Given the description of an element on the screen output the (x, y) to click on. 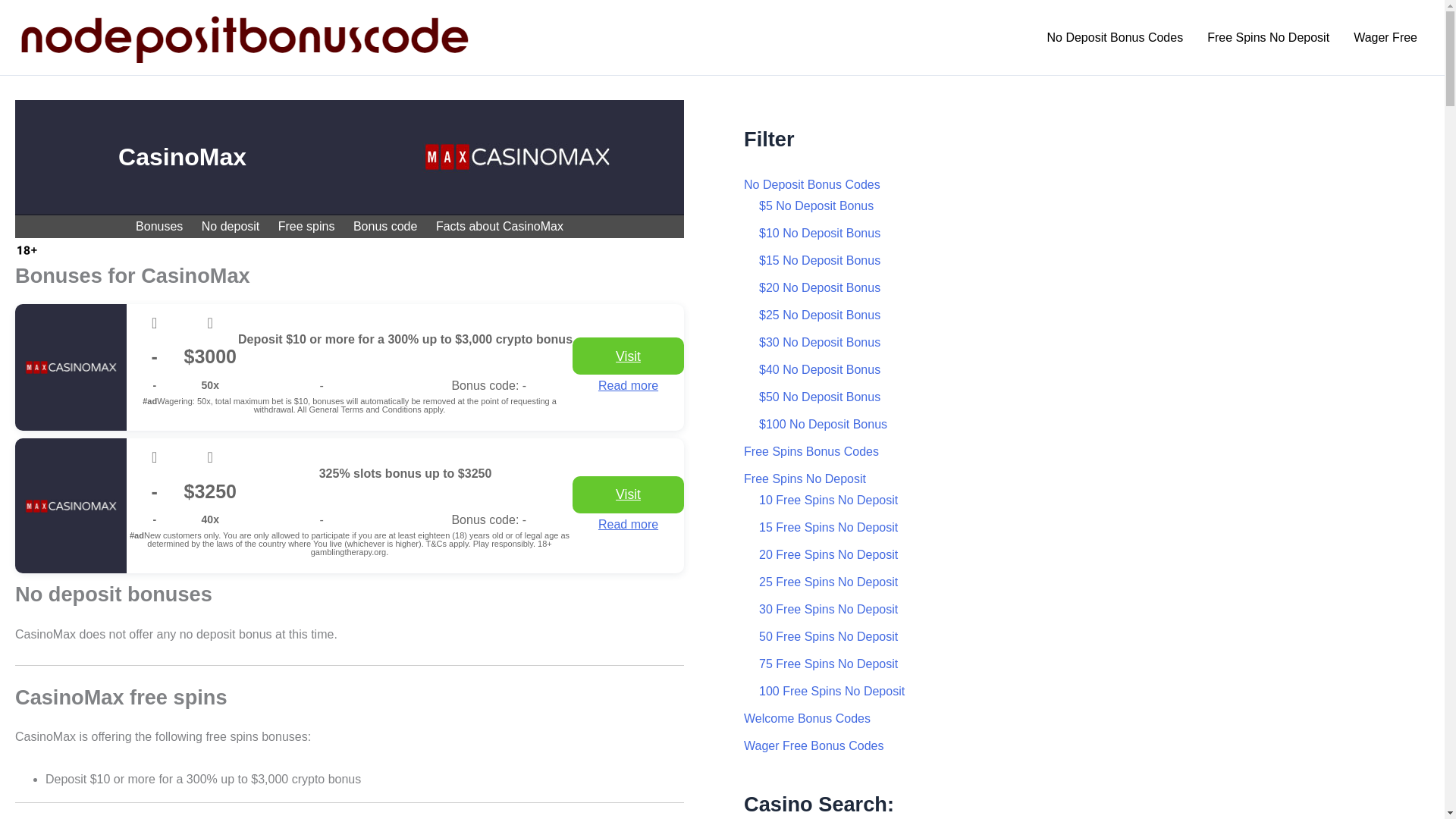
No Deposit Bonus Codes (1114, 37)
Free Spins No Deposit (1267, 37)
Wager Free (1384, 37)
